Given the description of an element on the screen output the (x, y) to click on. 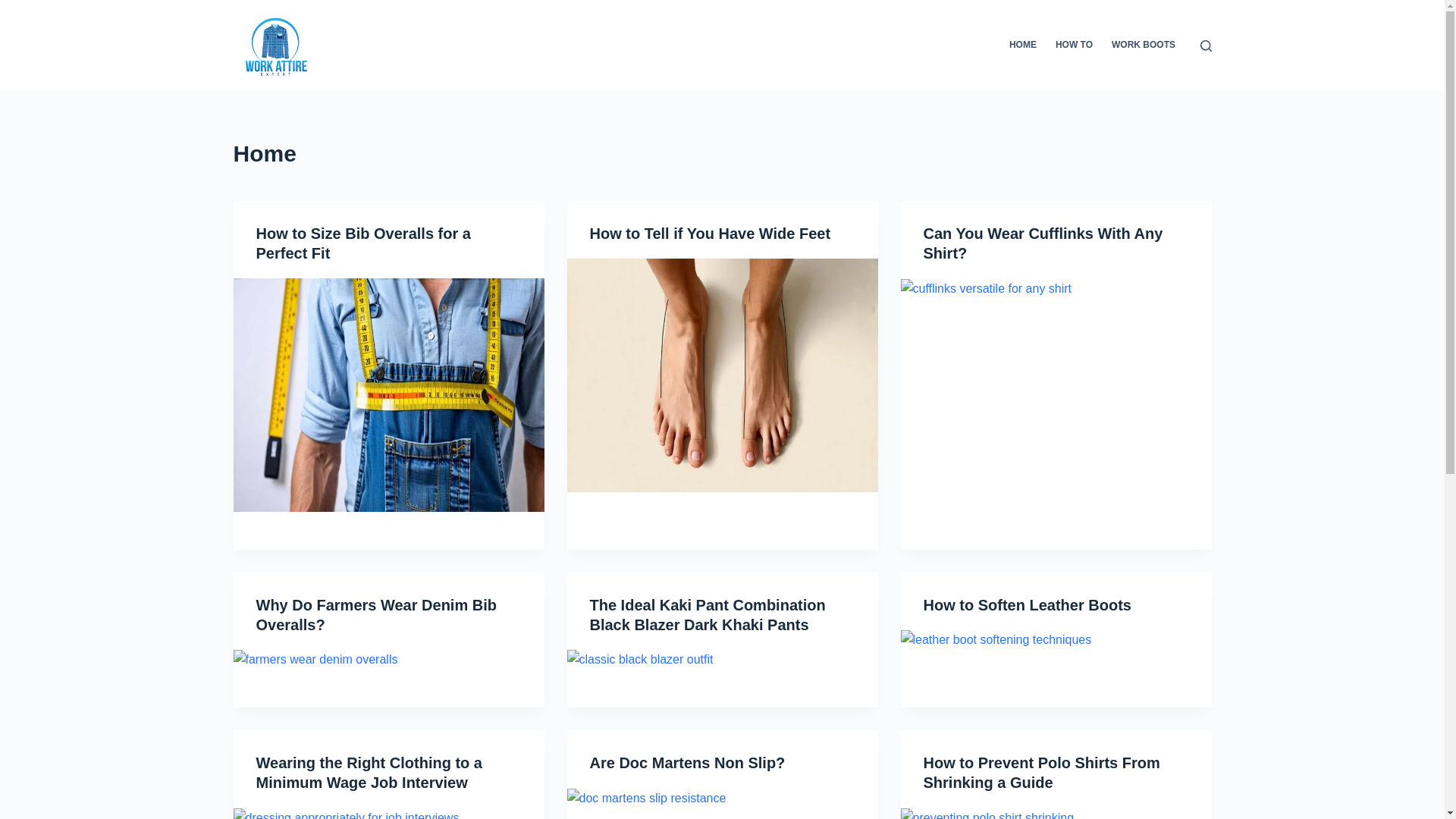
How to Tell if You Have Wide Feet (710, 233)
Why Do Farmers Wear Denim Bib Overalls? (376, 614)
Are Doc Martens Non Slip? 8 (646, 798)
How to Size Bib Overalls for a Perfect Fit 1 (388, 394)
How to Soften Leather Boots 6 (996, 639)
Why Do Farmers Wear Denim Bib Overalls? 4 (314, 659)
Can You Wear Cufflinks With Any Shirt? 3 (986, 288)
Home (721, 153)
Wearing the Right Clothing to a Minimum Wage Job Interview (369, 772)
How to Prevent Polo Shirts From Shrinking a Guide (1041, 772)
